Given the description of an element on the screen output the (x, y) to click on. 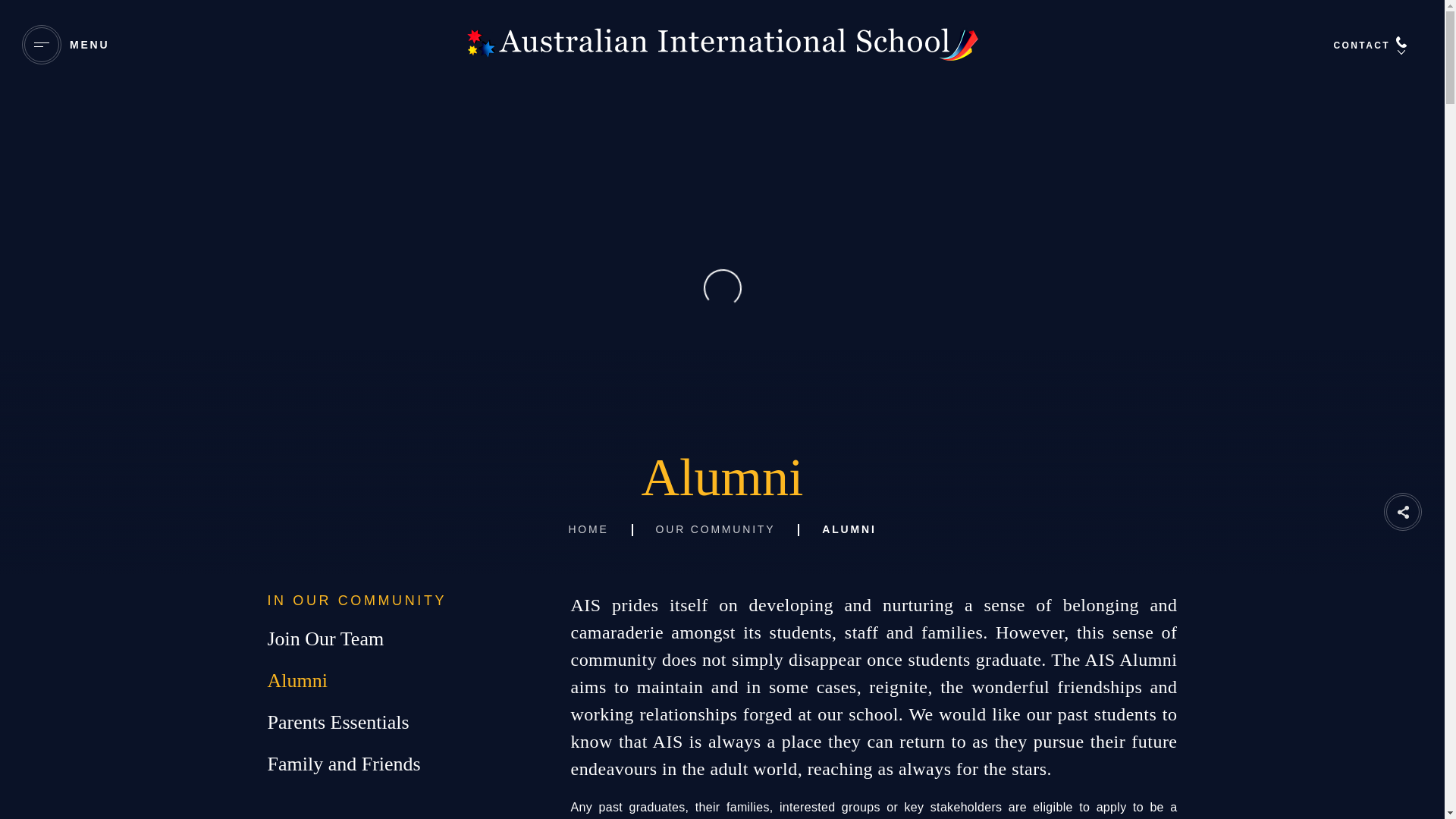
Family and Friends (380, 764)
Home (587, 529)
Join Our Team (380, 638)
Parents Essentials (380, 722)
CONTACT (1375, 45)
Alumni (380, 680)
Our Community (716, 529)
